Given the description of an element on the screen output the (x, y) to click on. 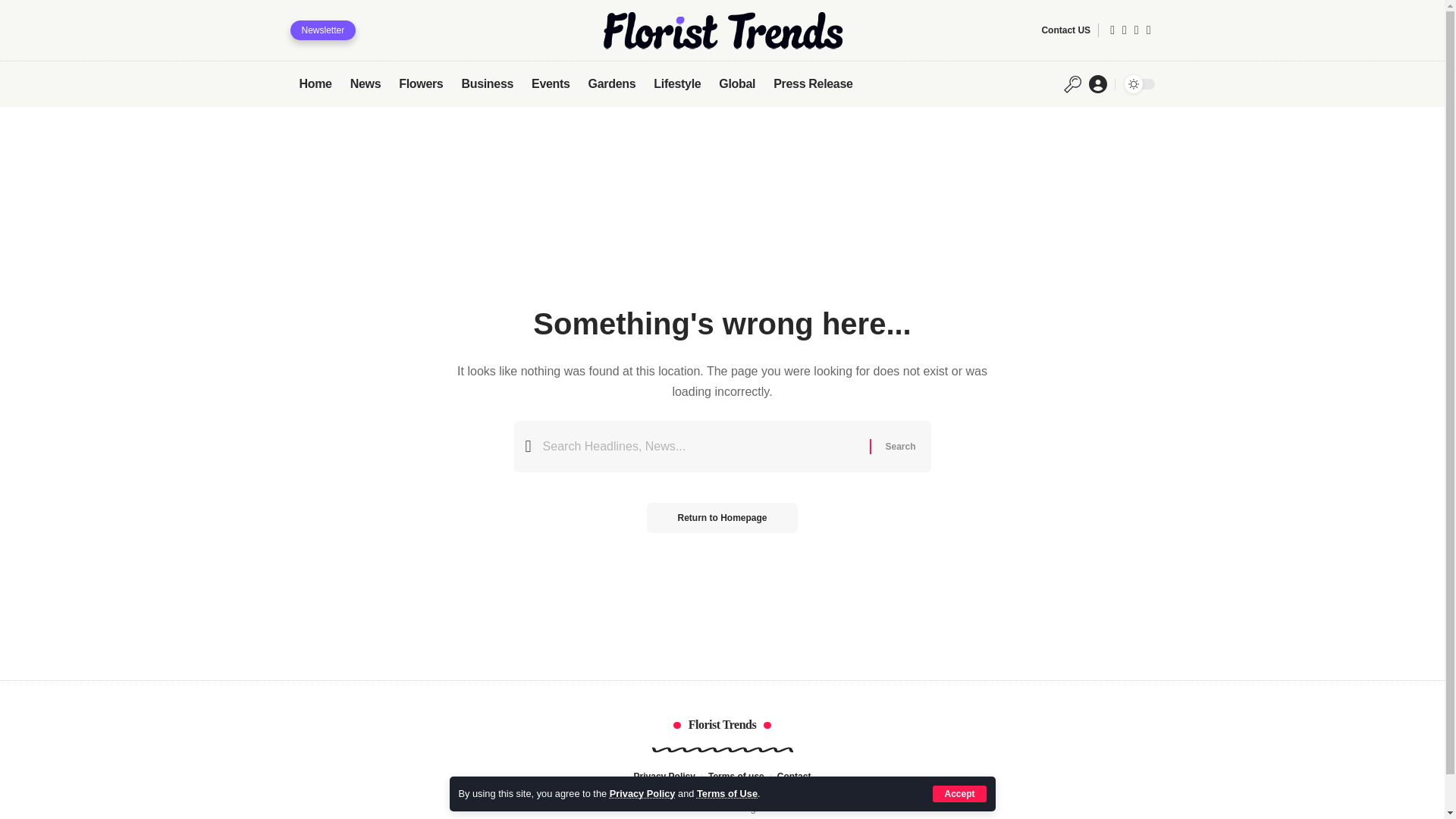
Newsletter (322, 30)
Accept (959, 793)
Events (550, 83)
Contact US (1065, 29)
News (365, 83)
Gardens (612, 83)
Flowers (420, 83)
Privacy Policy (642, 793)
Search (899, 445)
Home (314, 83)
Global (737, 83)
Business (486, 83)
Press Release (812, 83)
Terms of Use (727, 793)
Contact US (1065, 29)
